Given the description of an element on the screen output the (x, y) to click on. 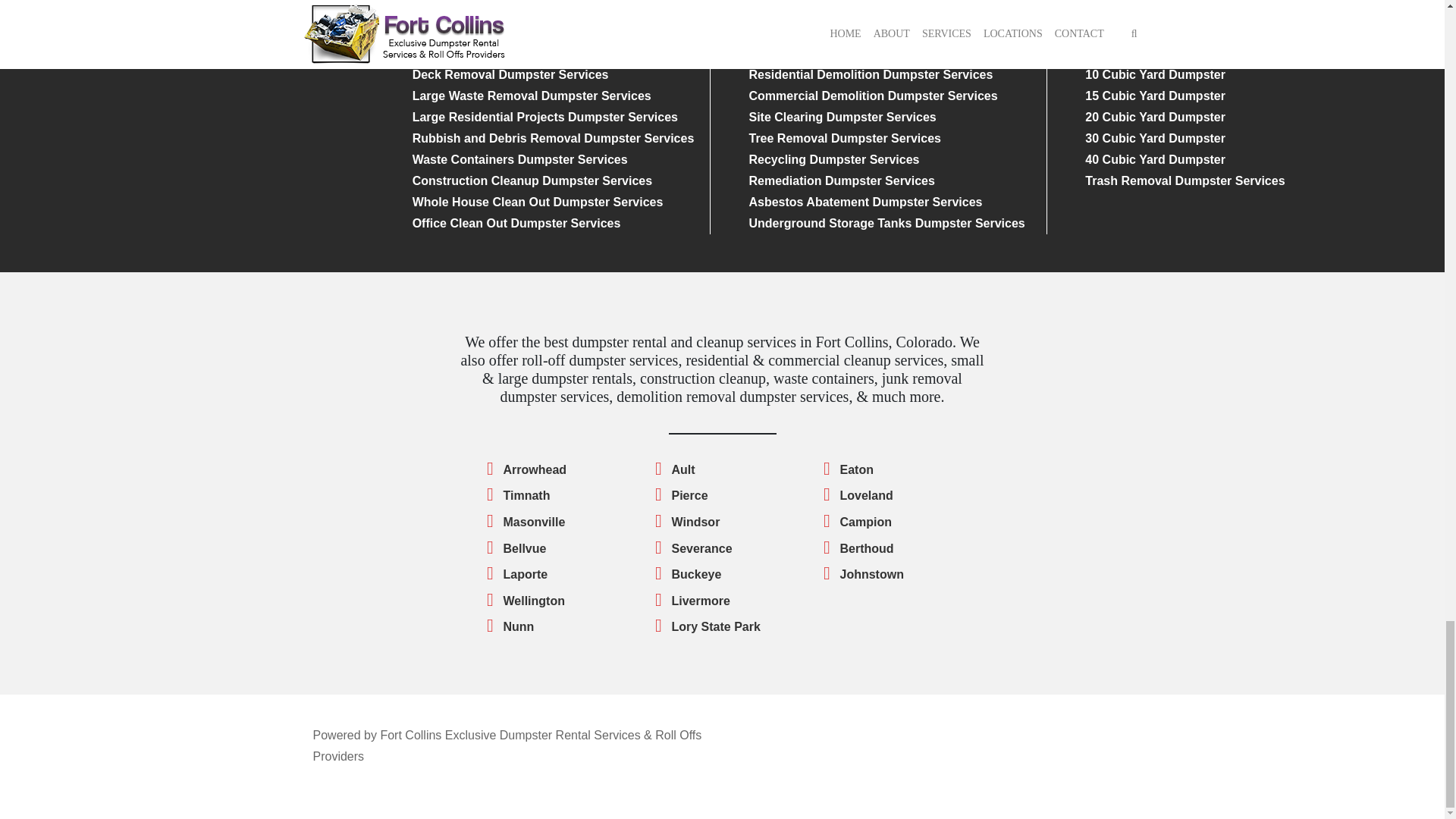
Office Clean Out Dumpster Services (516, 223)
Large Waste Removal Dumpster Services (531, 95)
Rubbish and Debris Removal Dumpster Services (553, 137)
Business Dumpster Rental Services (516, 10)
Demolition Removal Dumpster Services (527, 31)
Deck Removal Dumpster Services (510, 74)
Construction Cleanup Dumpster Services (532, 180)
Waste Containers Dumpster Services (519, 159)
Whole House Clean Out Dumpster Services (537, 201)
Large Residential Projects Dumpster Services (545, 116)
